Given the description of an element on the screen output the (x, y) to click on. 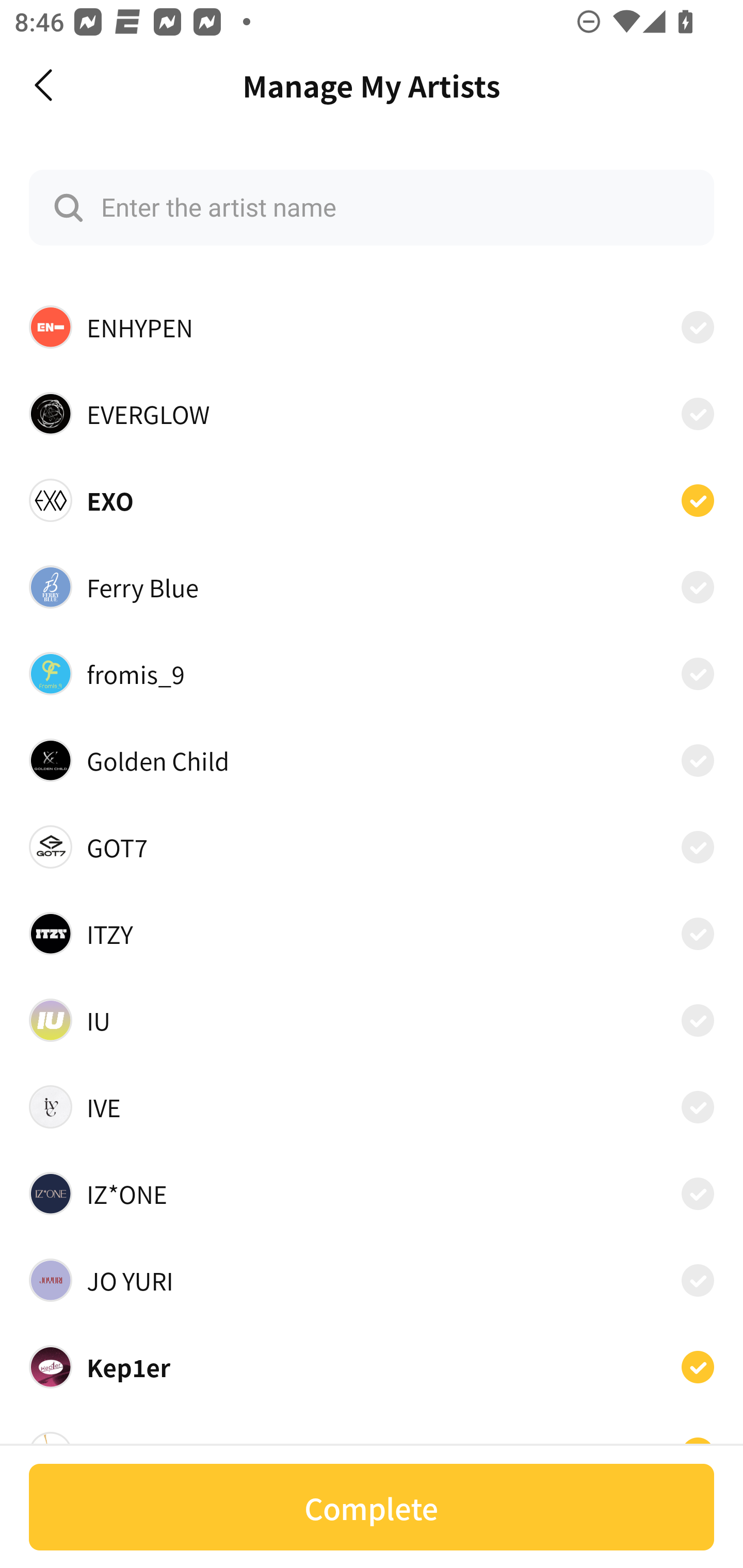
Enter the artist name (371, 207)
ENHYPEN (371, 326)
EVERGLOW (371, 413)
EXO (371, 500)
Ferry Blue (371, 587)
fromis_9 (371, 673)
Golden Child (371, 760)
GOT7 (371, 846)
ITZY (371, 933)
IU (371, 1019)
IVE (371, 1106)
IZ*ONE (371, 1193)
JO YURI (371, 1280)
Kep1er (371, 1367)
Complete (371, 1507)
